Given the description of an element on the screen output the (x, y) to click on. 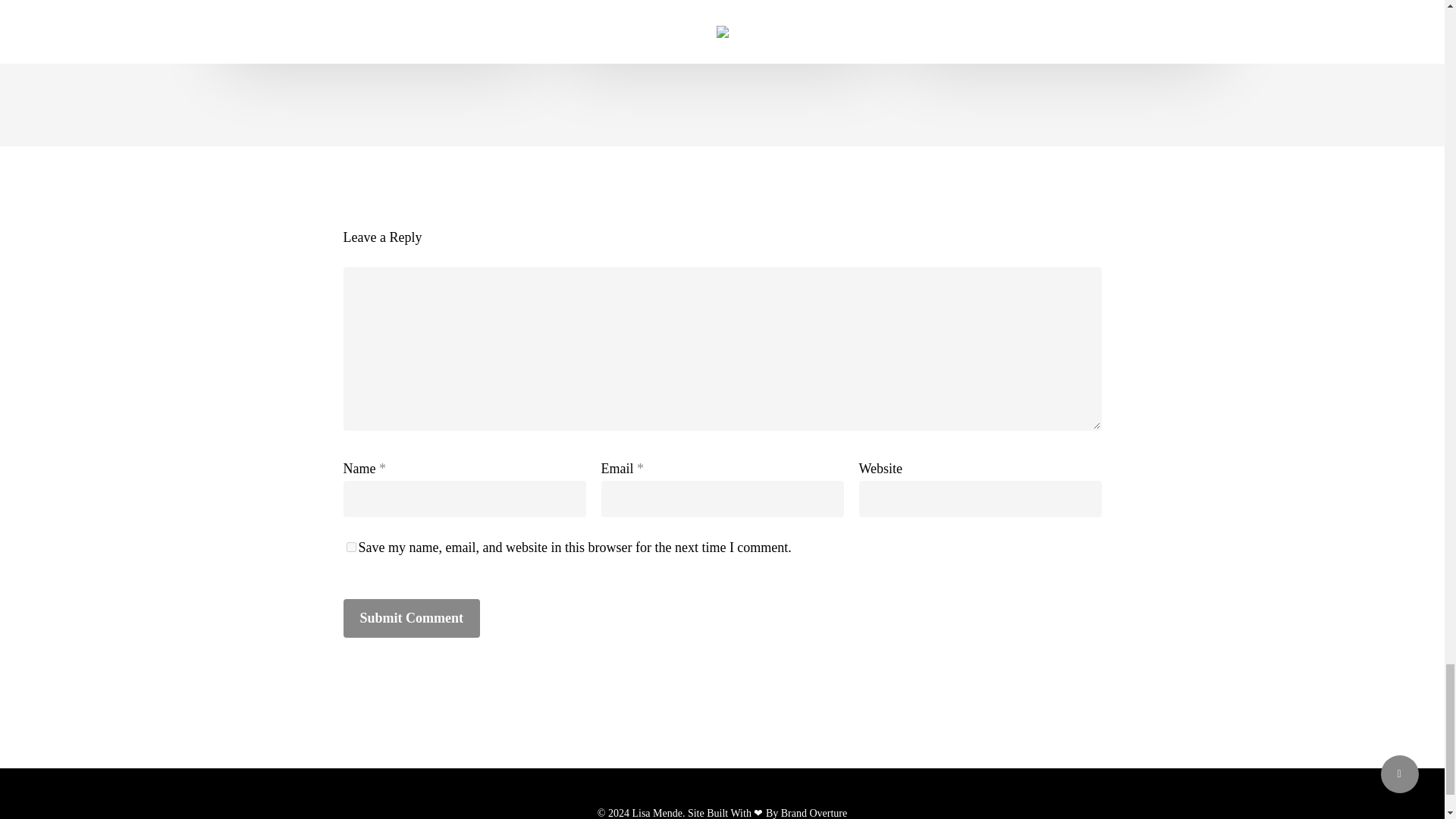
yes (350, 547)
Submit Comment (411, 618)
